Given the description of an element on the screen output the (x, y) to click on. 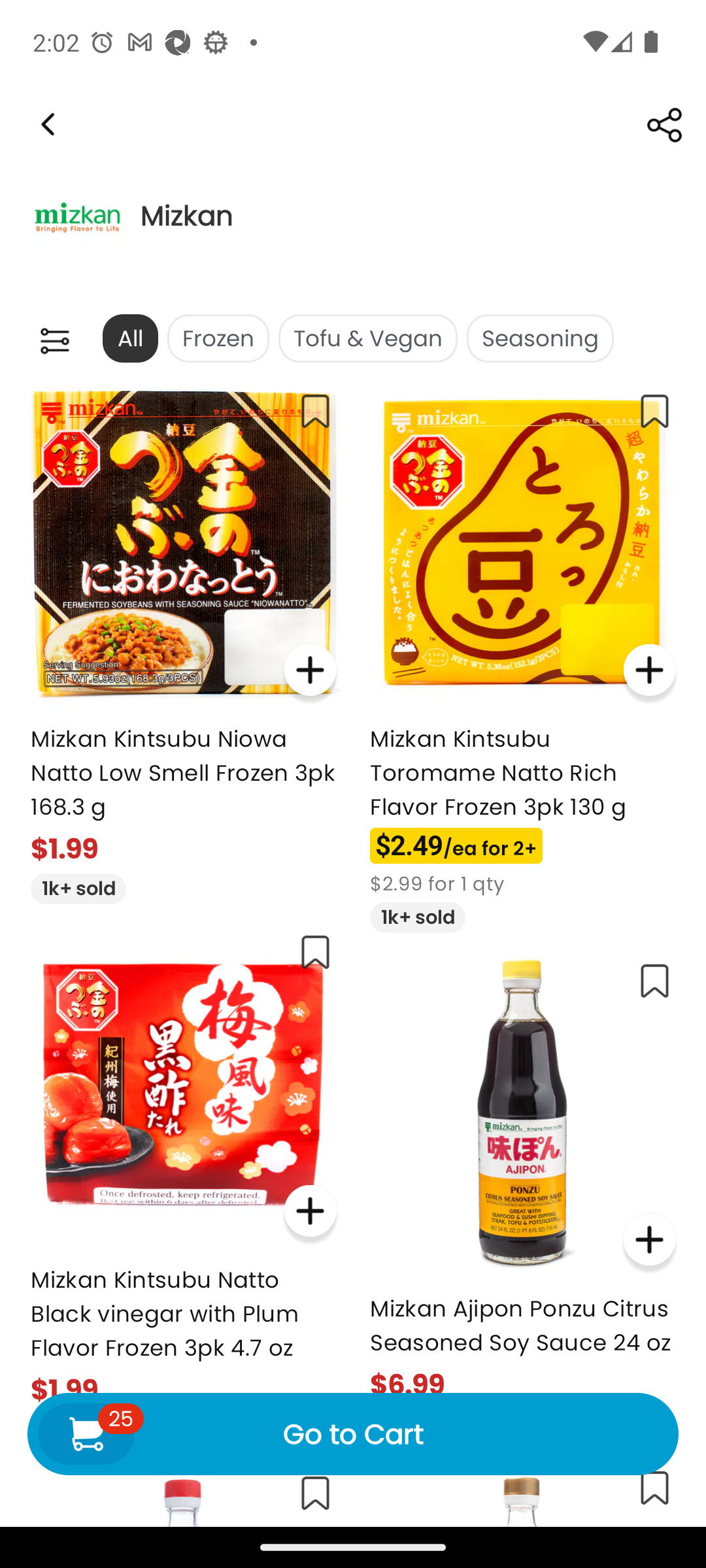
All (130, 338)
Frozen (217, 338)
Tofu & Vegan (367, 338)
Seasoning (539, 338)
25 Go to Cart (352, 1433)
